Given the description of an element on the screen output the (x, y) to click on. 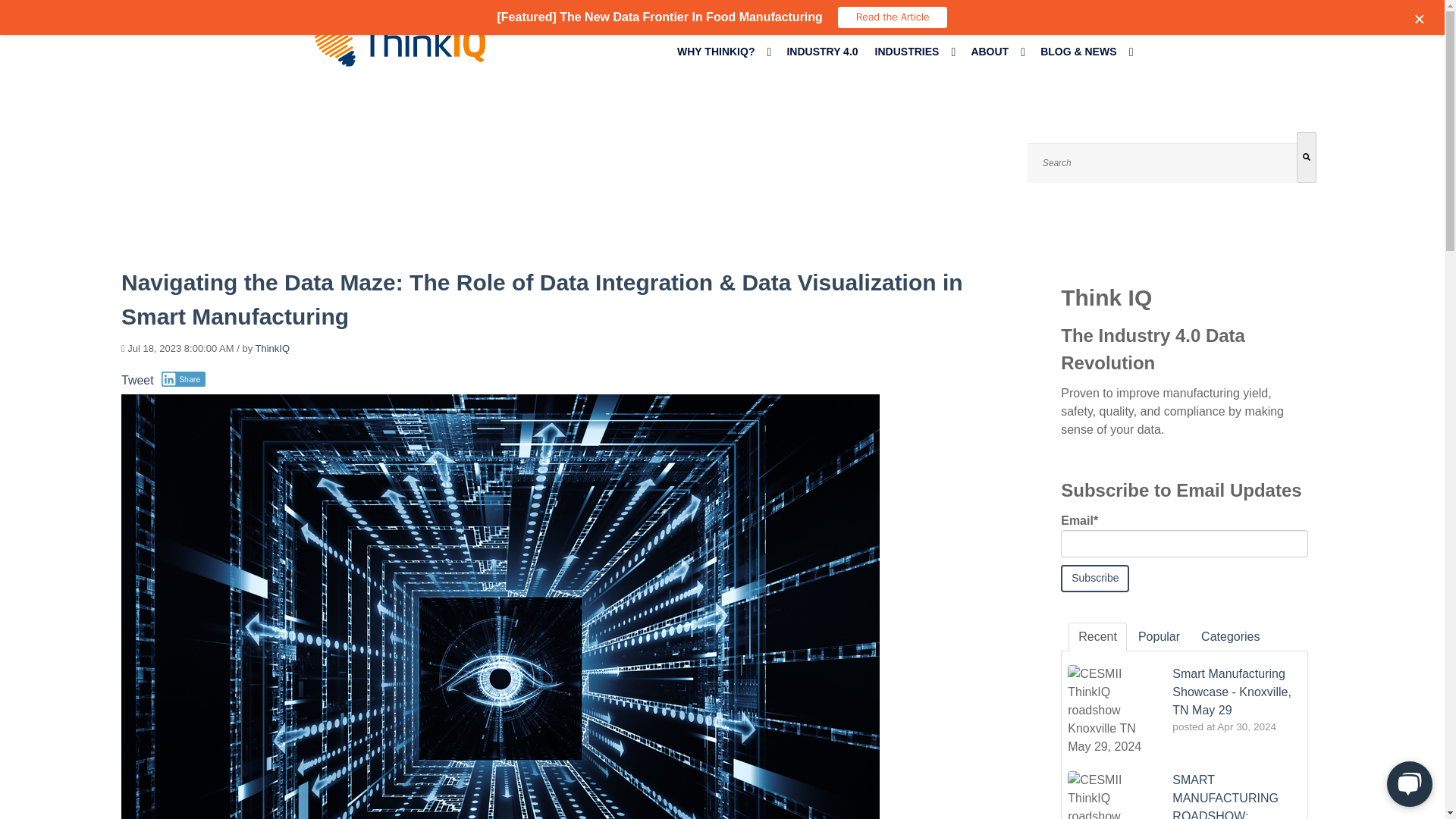
Subscribe (1095, 578)
Share (183, 378)
Recent (1097, 636)
Popular (1158, 636)
INDUSTRIES (915, 63)
Smart Manufacturing Showcase - Knoxville, TN May 29 (1231, 691)
WHY THINKIQ? (723, 63)
Add our blog to your RSS reader (1224, 122)
INDUSTRY 4.0 (821, 63)
Categories (1230, 636)
Subscribe (1095, 578)
ABOUT (997, 63)
Tweet (137, 379)
ThinkIQ (272, 348)
